Given the description of an element on the screen output the (x, y) to click on. 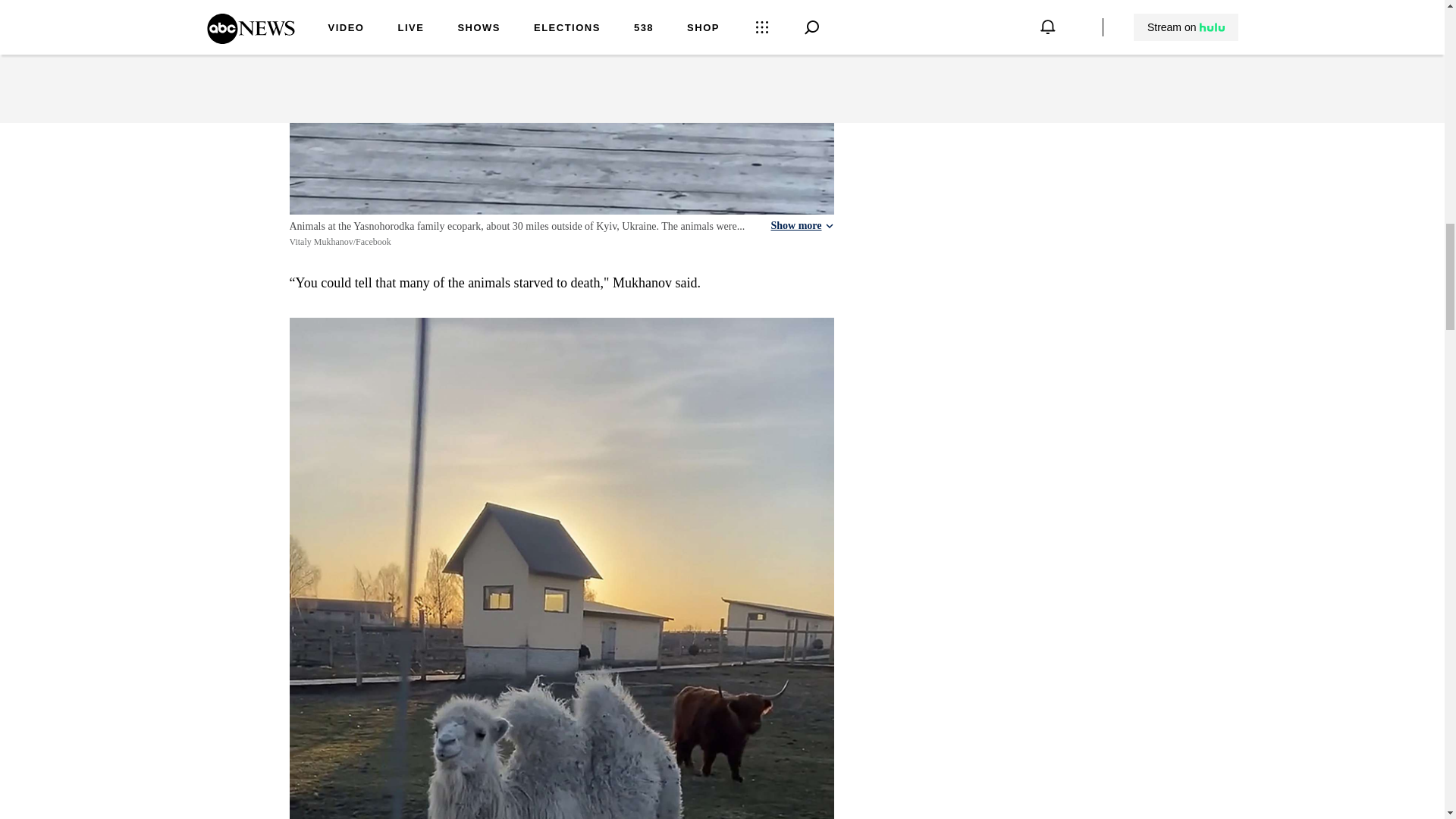
Show more (801, 225)
